Given the description of an element on the screen output the (x, y) to click on. 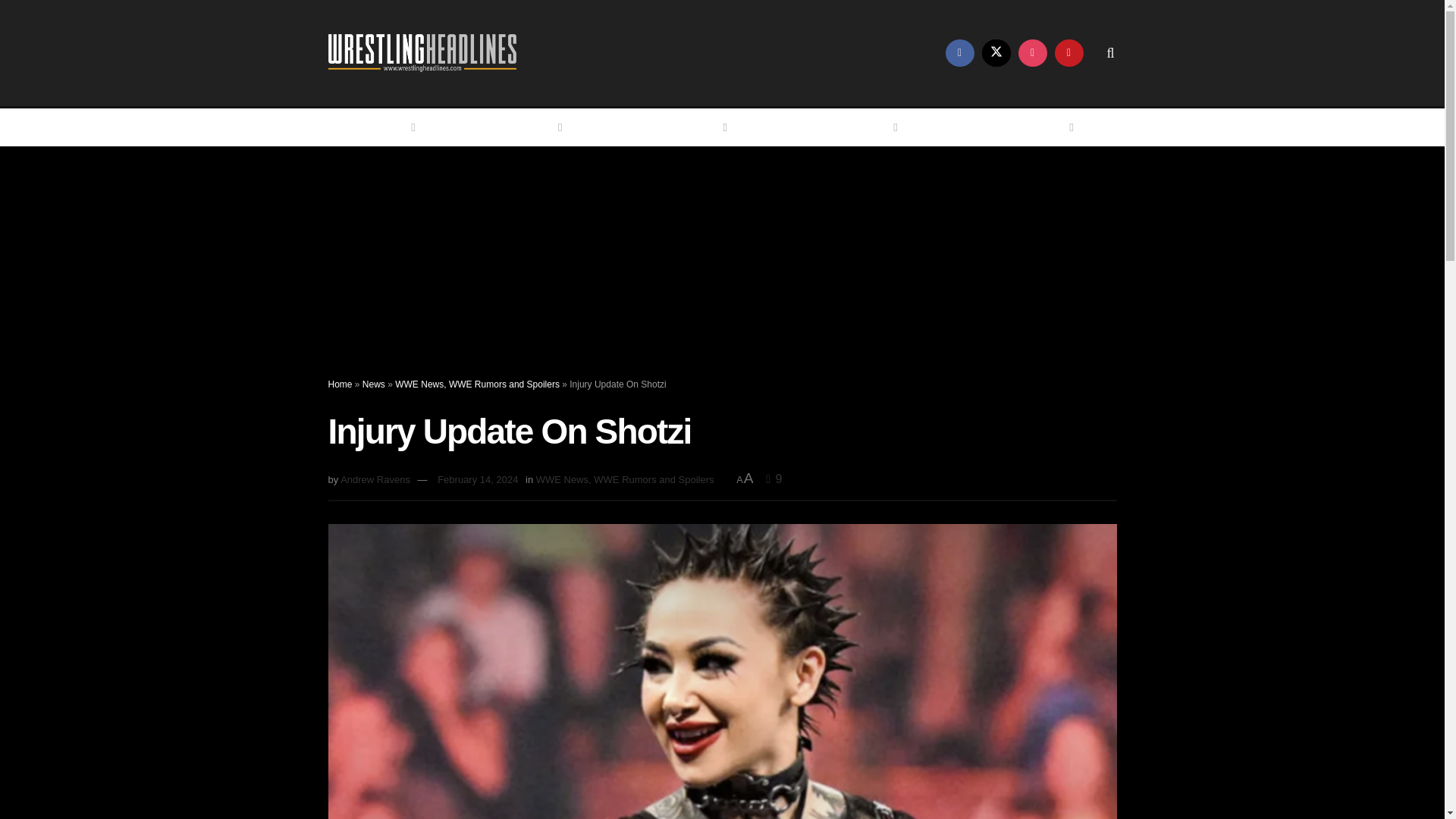
RESULTS (695, 127)
COLUMNS (863, 127)
HOME (392, 127)
NEWS (539, 127)
